Given the description of an element on the screen output the (x, y) to click on. 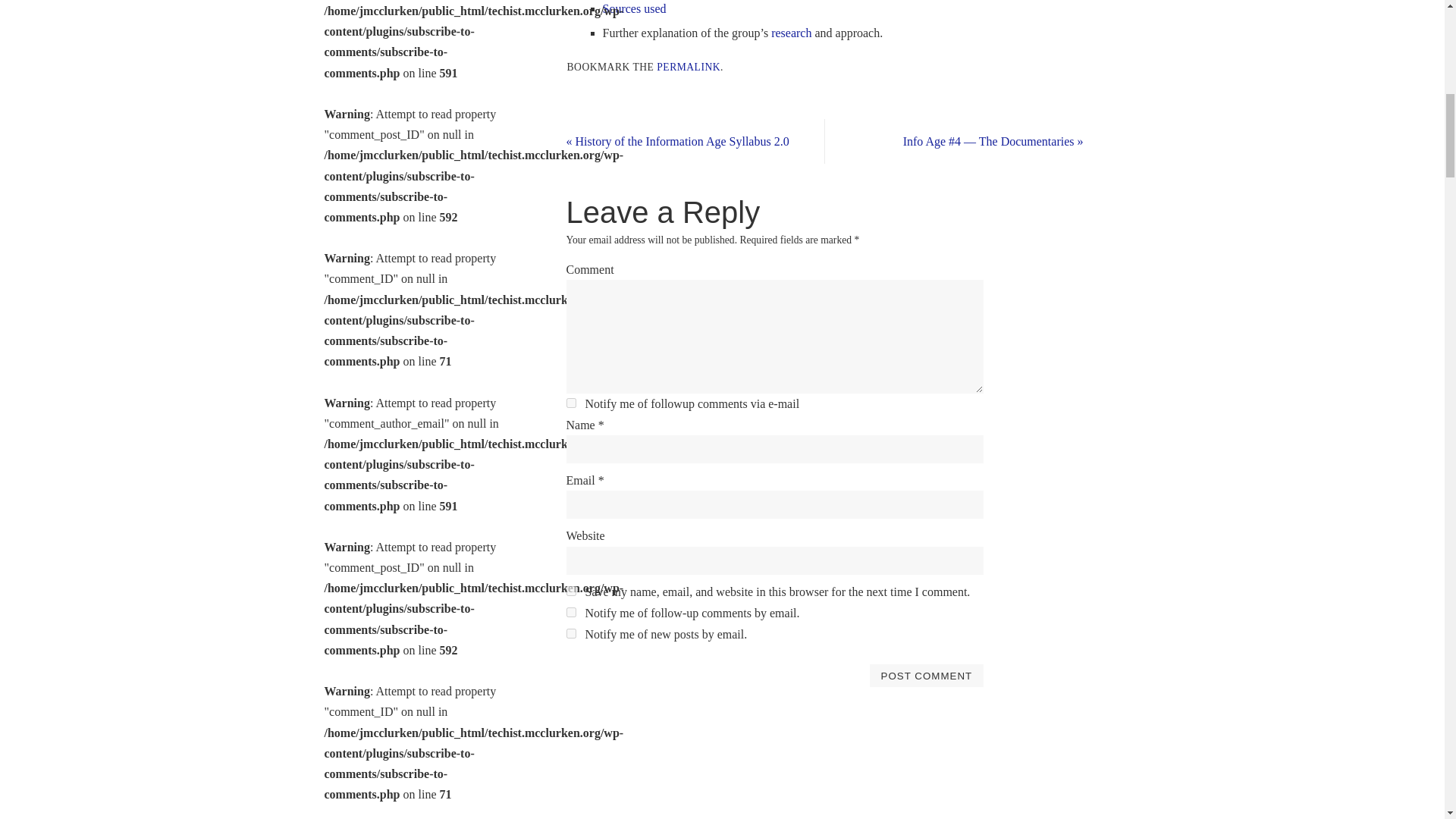
Sources used (633, 8)
Post Comment (925, 675)
Post Comment (925, 675)
subscribe (570, 612)
PERMALINK (688, 66)
subscribe (570, 633)
subscribe (570, 402)
research (790, 32)
yes (570, 591)
